Given the description of an element on the screen output the (x, y) to click on. 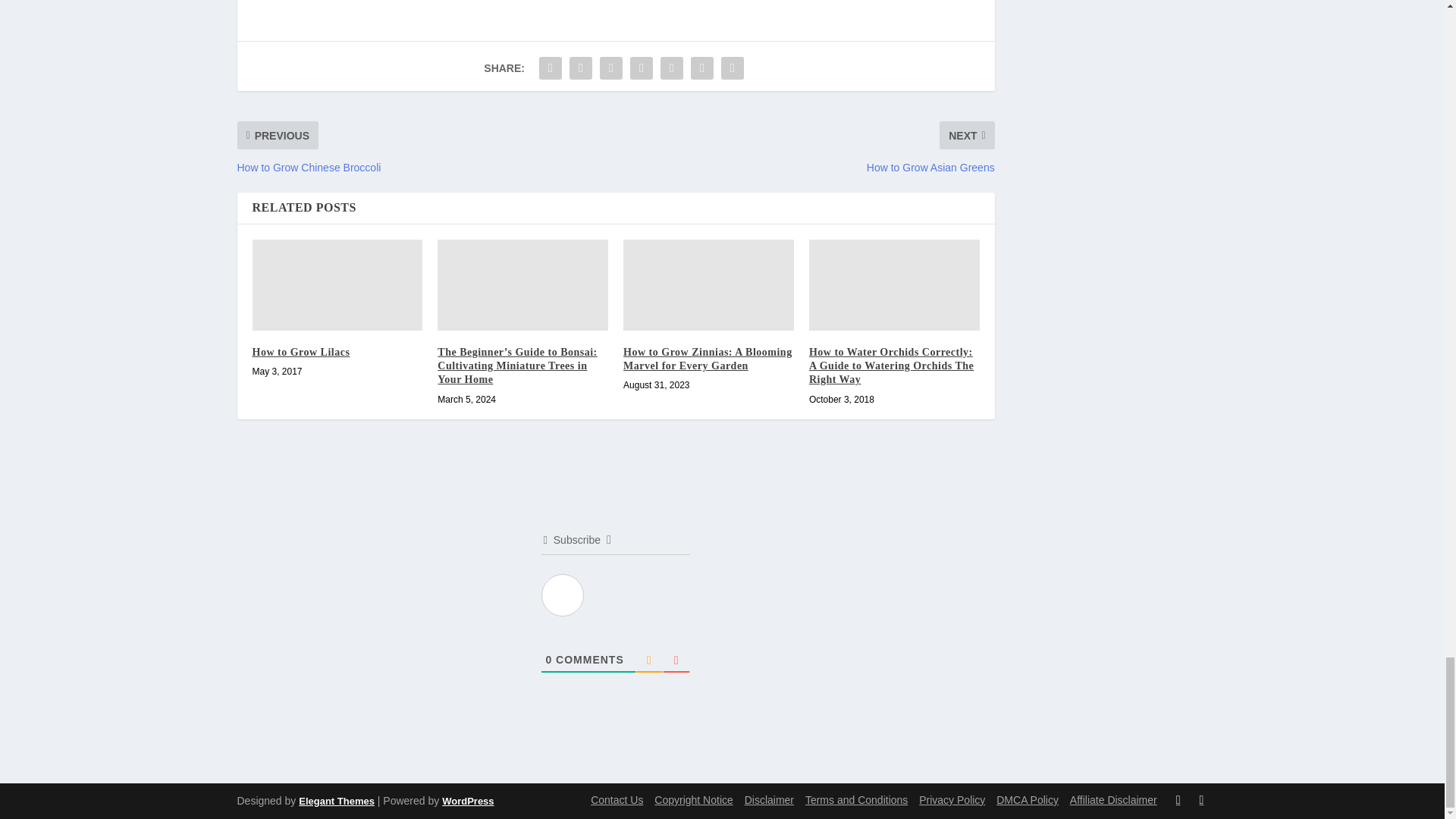
Share "How to Grow Tulips From Bulbs" via Twitter (580, 68)
Share "How to Grow Tulips From Bulbs" via Stumbleupon (671, 68)
Share "How to Grow Tulips From Bulbs" via Email (702, 68)
How to Grow Lilacs (336, 284)
Share "How to Grow Tulips From Bulbs" via Print (732, 68)
Share "How to Grow Tulips From Bulbs" via Pinterest (641, 68)
Share "How to Grow Tulips From Bulbs" via Facebook (550, 68)
How to Grow Zinnias: A Blooming Marvel for Every Garden (708, 284)
